Given the description of an element on the screen output the (x, y) to click on. 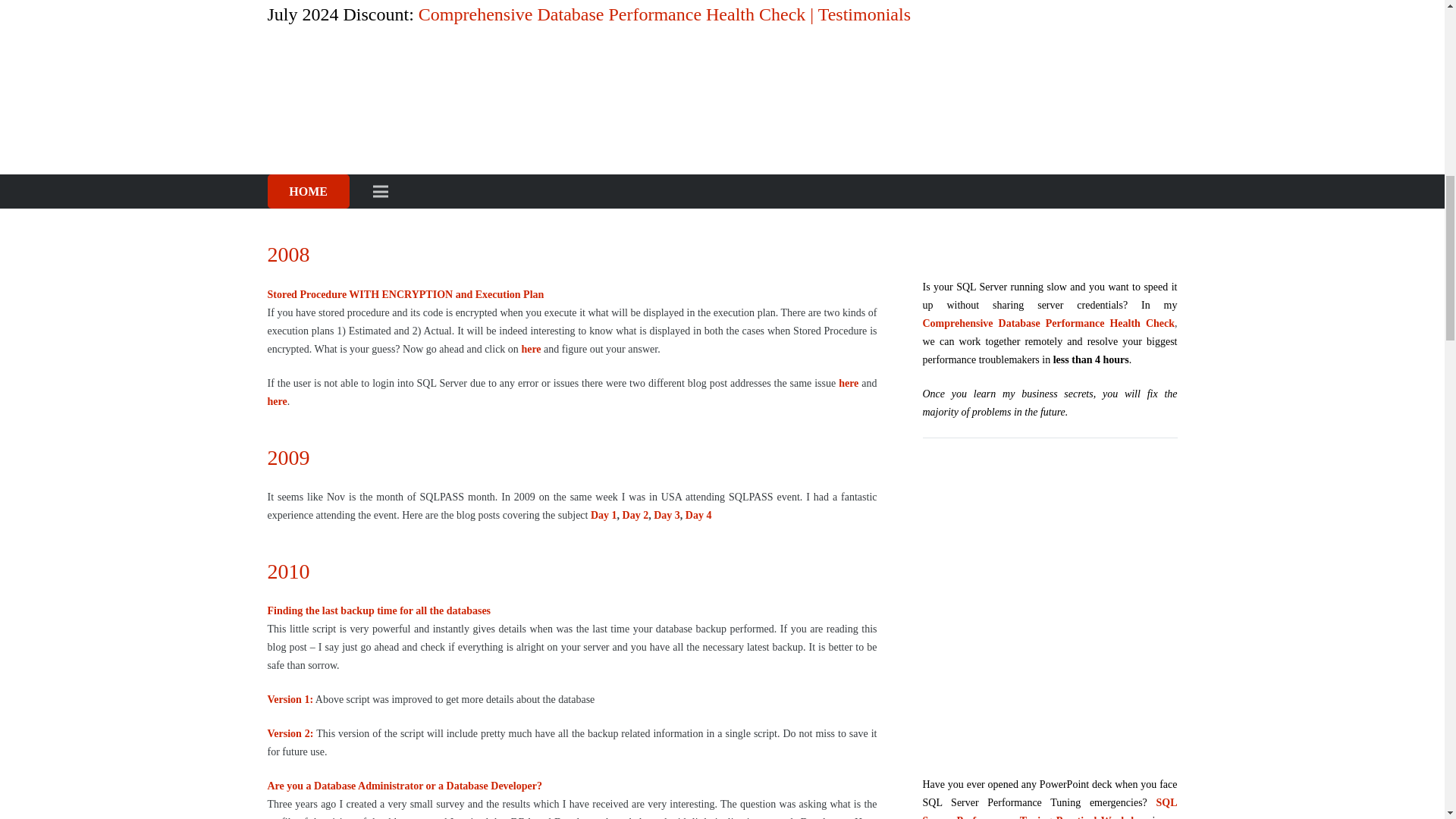
Back to top (1413, 26)
Day 3 (666, 514)
Version 2: (289, 733)
Comprehensive Database Performance Health Check (1048, 128)
Day 1 (604, 514)
Day 4 (698, 514)
Version 2: (289, 48)
here (849, 383)
here (532, 348)
Stored Procedure WITH ENCRYPTION and Execution Plan (404, 294)
Version 1: (289, 699)
Version 1: (289, 13)
Day 2 (636, 514)
Are you a Database Administrator or a Database Developer? (403, 785)
here (276, 401)
